Given the description of an element on the screen output the (x, y) to click on. 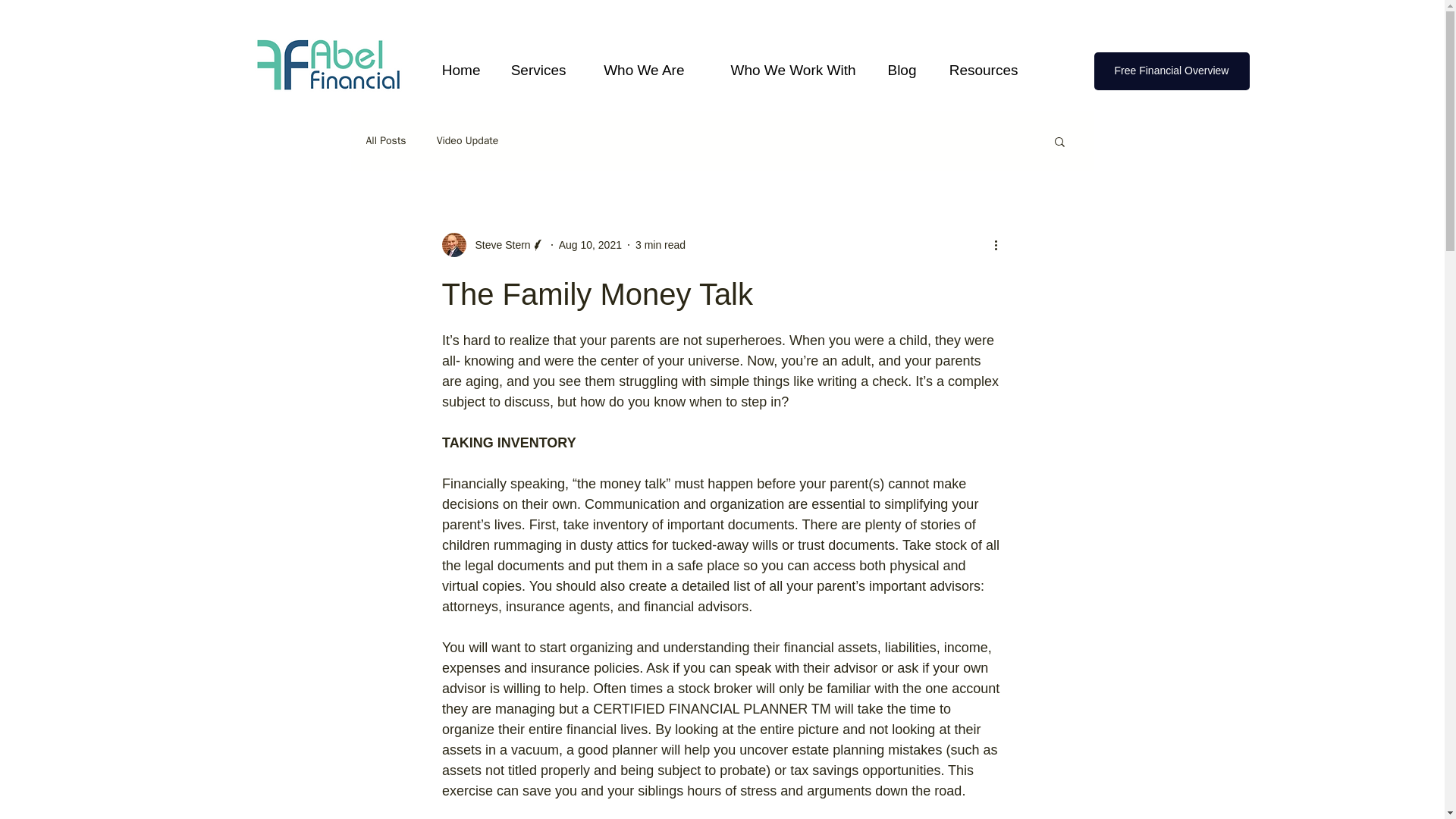
Blog (899, 63)
3 min read (659, 244)
Steve Stern (492, 244)
Services (537, 63)
Who We Are (638, 63)
Who We Work With (783, 63)
All Posts (385, 141)
Aug 10, 2021 (590, 244)
Free Financial Overview (1171, 71)
Home (459, 63)
Steve Stern (497, 244)
Resources (980, 63)
 Client Logins (1055, 10)
Video Update (467, 141)
